Given the description of an element on the screen output the (x, y) to click on. 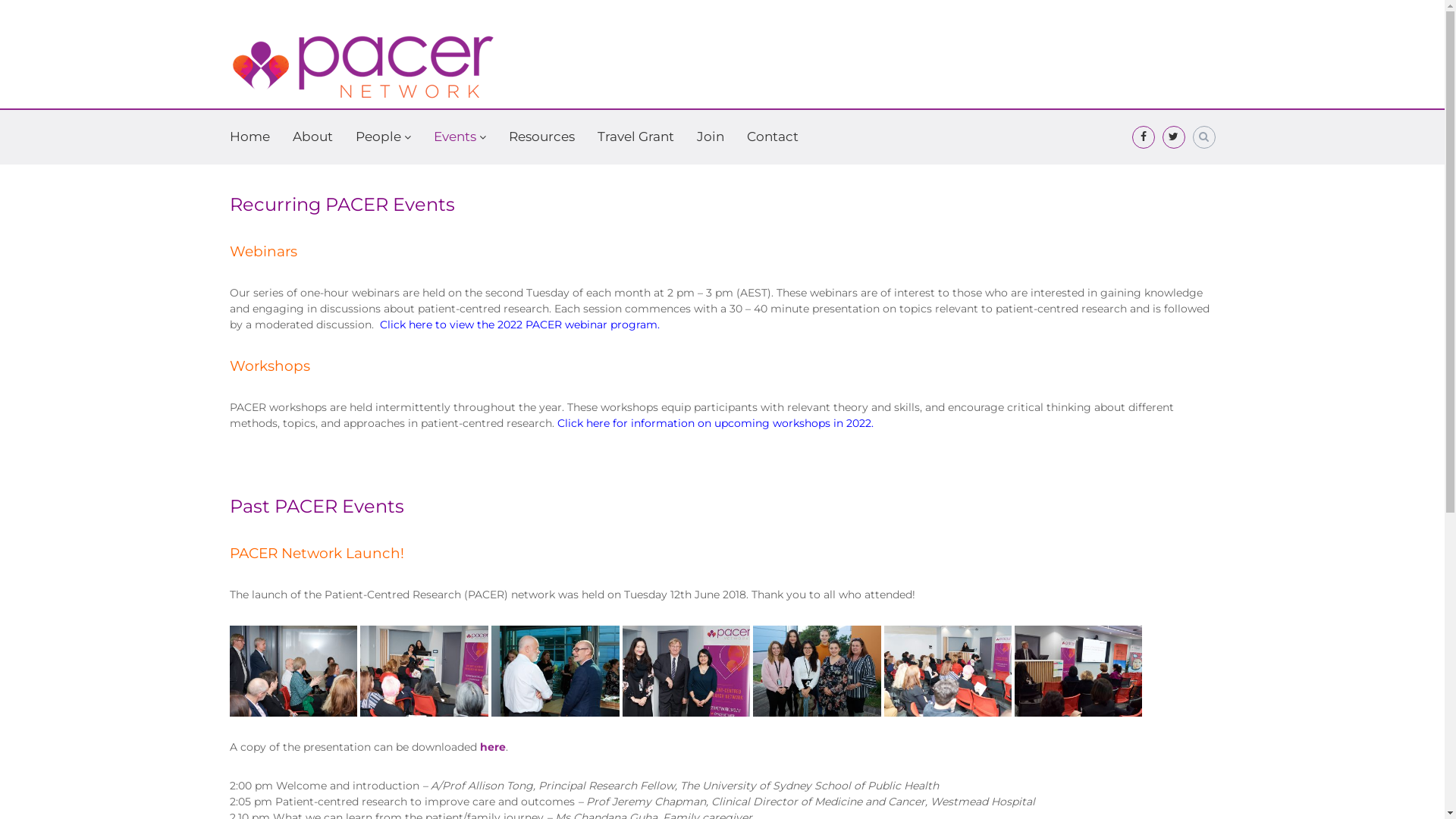
About Element type: text (312, 136)
People Element type: text (377, 136)
Resources Element type: text (541, 136)
Join Element type: text (709, 136)
Click here to view the 2022 PACER webinar program. Element type: text (518, 323)
Skip to content Element type: text (0, 0)
Events Element type: text (454, 136)
here Element type: text (492, 746)
Home Element type: text (249, 136)
Travel Grant Element type: text (635, 136)
Contact Element type: text (771, 136)
Patient-Centred Research Network Element type: text (271, 152)
Click here for information on upcoming workshops in 2022. Element type: text (714, 422)
